Given the description of an element on the screen output the (x, y) to click on. 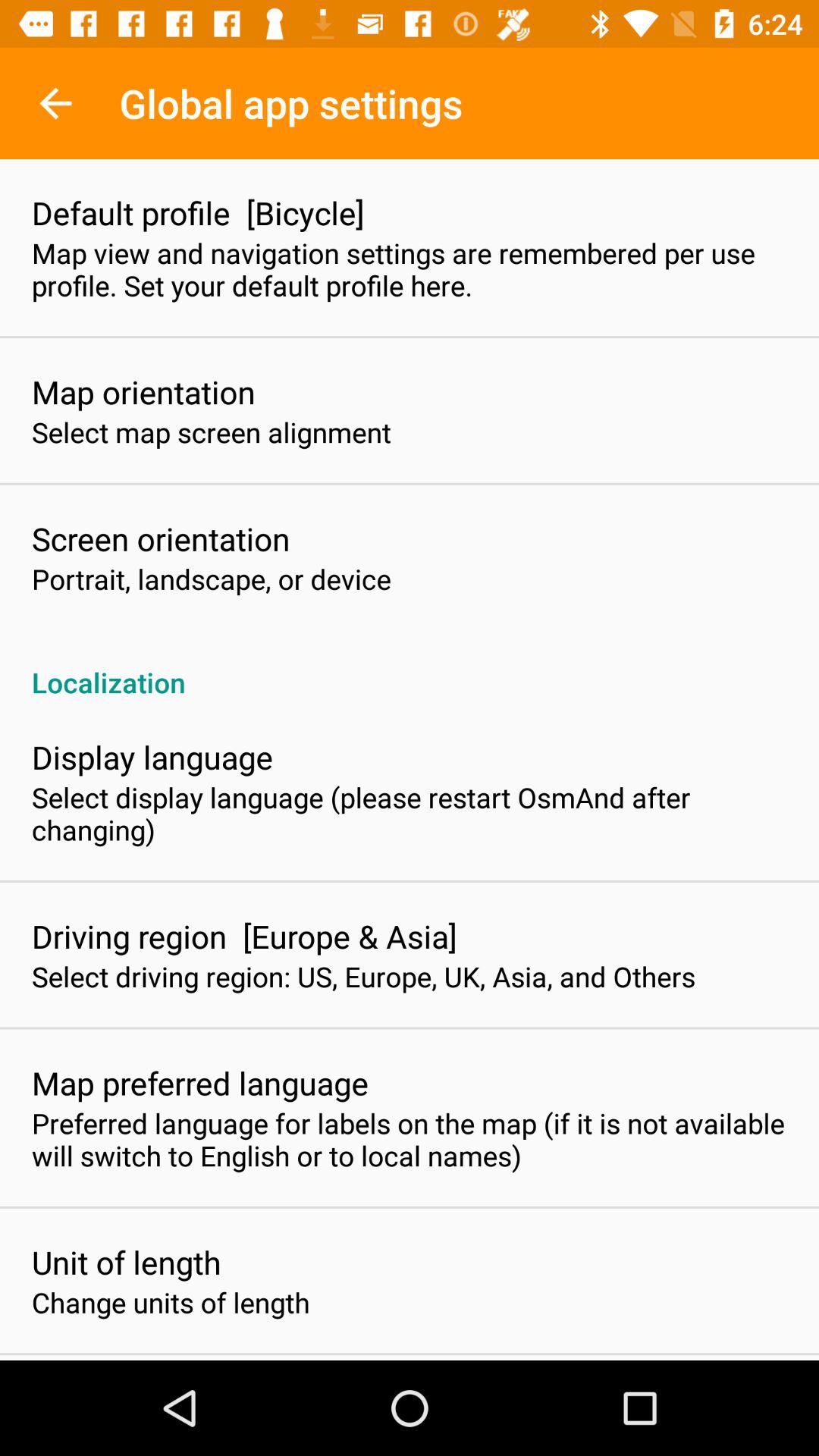
scroll until change units of icon (170, 1302)
